Given the description of an element on the screen output the (x, y) to click on. 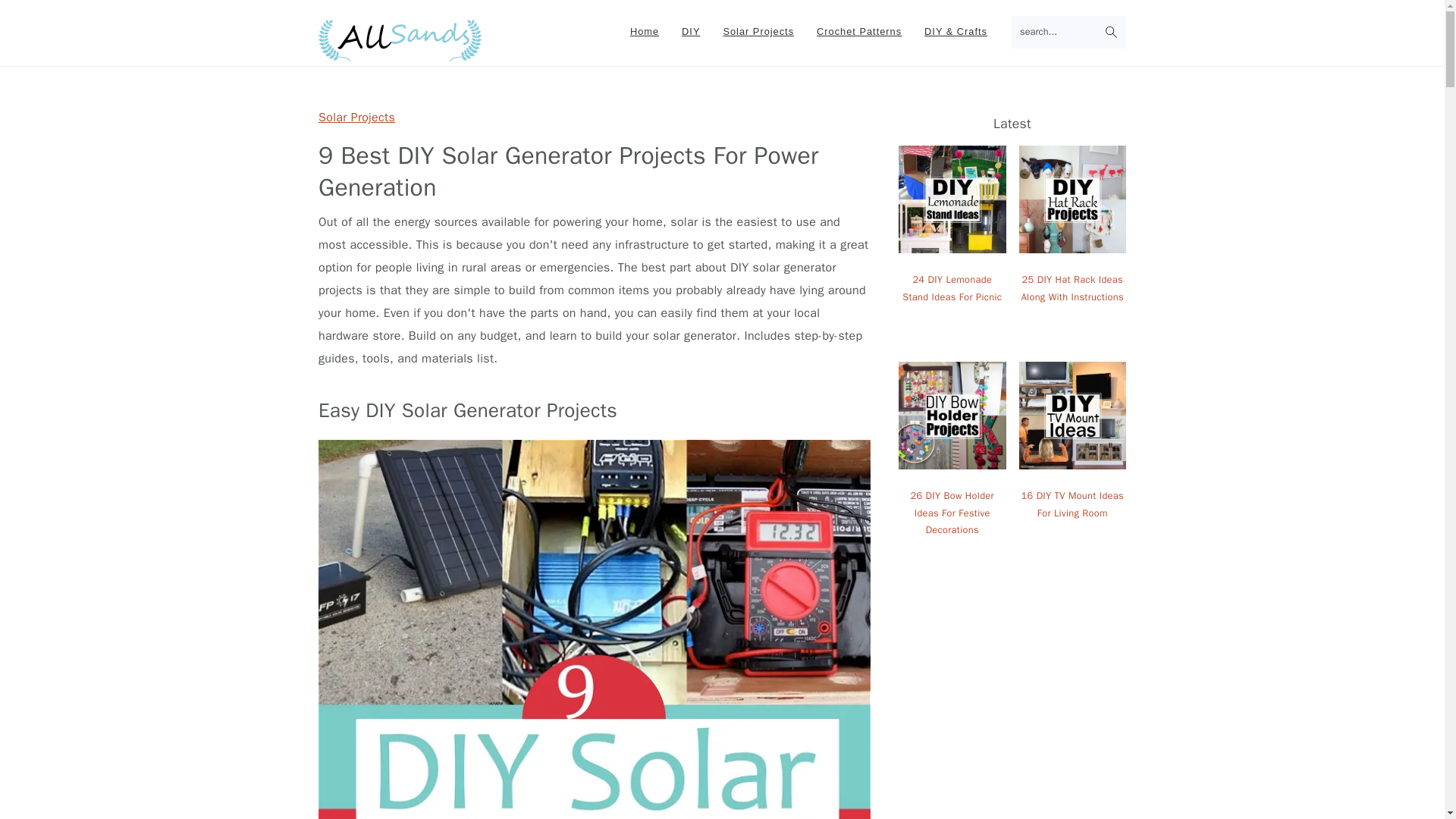
Solar Projects (758, 32)
Home (643, 32)
Solar Projects (356, 117)
All Sands (399, 52)
All Sands (399, 40)
Crochet Patterns (858, 32)
